Given the description of an element on the screen output the (x, y) to click on. 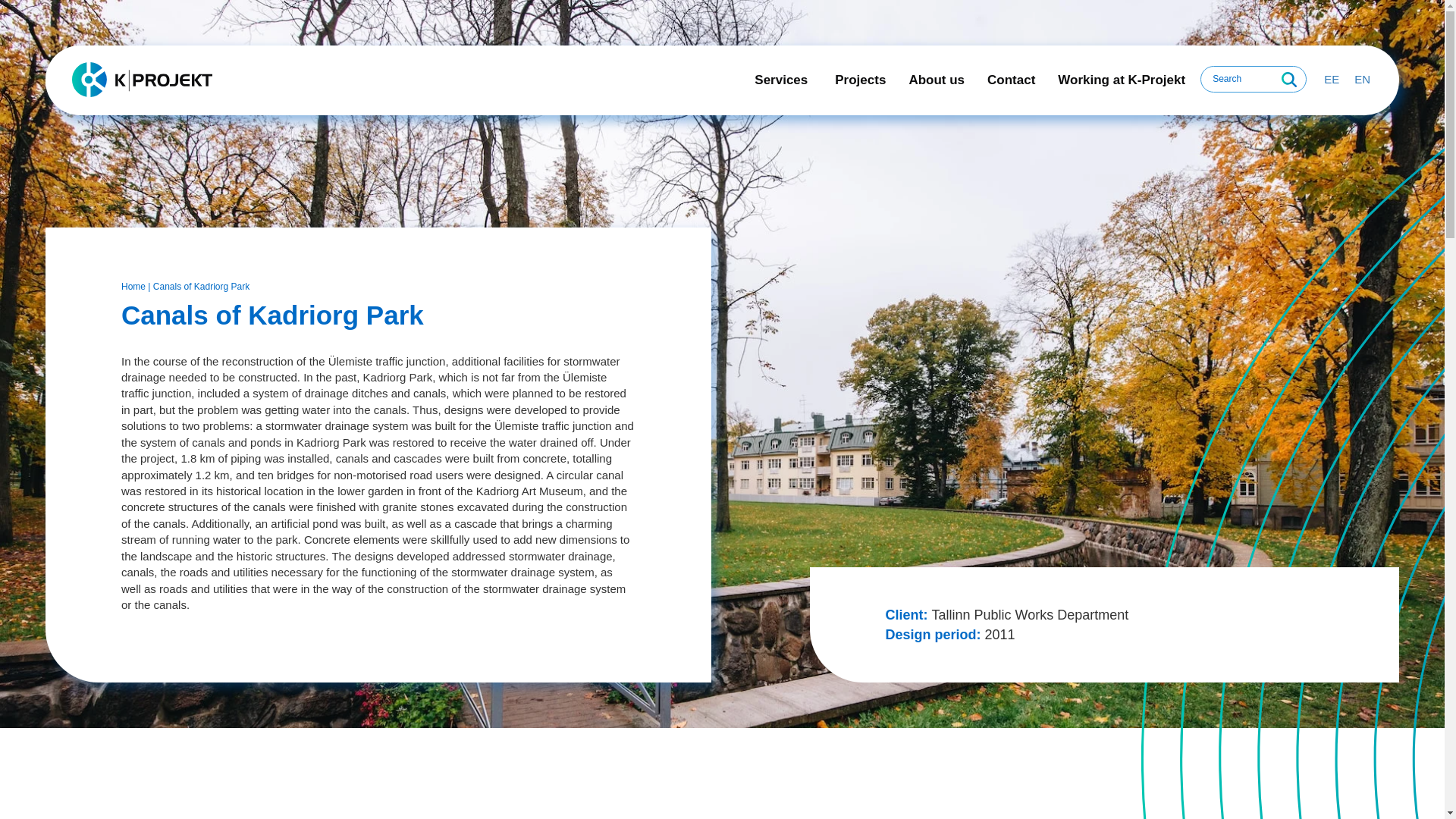
EN (1361, 78)
Search (1288, 80)
Search (1288, 80)
Search for: (1252, 79)
EE (1331, 78)
Search (1288, 80)
Services (783, 80)
